Given the description of an element on the screen output the (x, y) to click on. 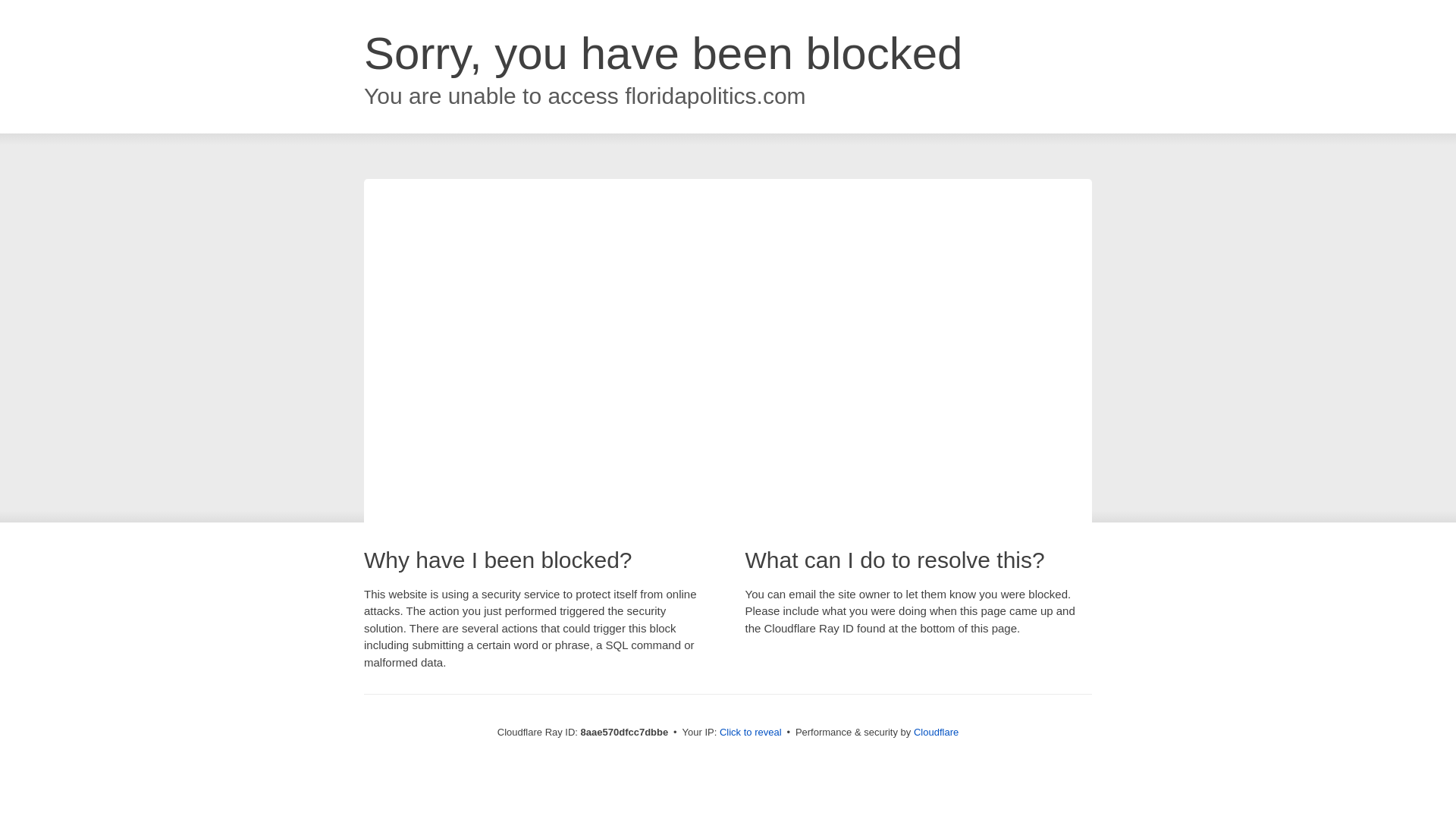
Cloudflare (936, 731)
Click to reveal (750, 732)
